Given the description of an element on the screen output the (x, y) to click on. 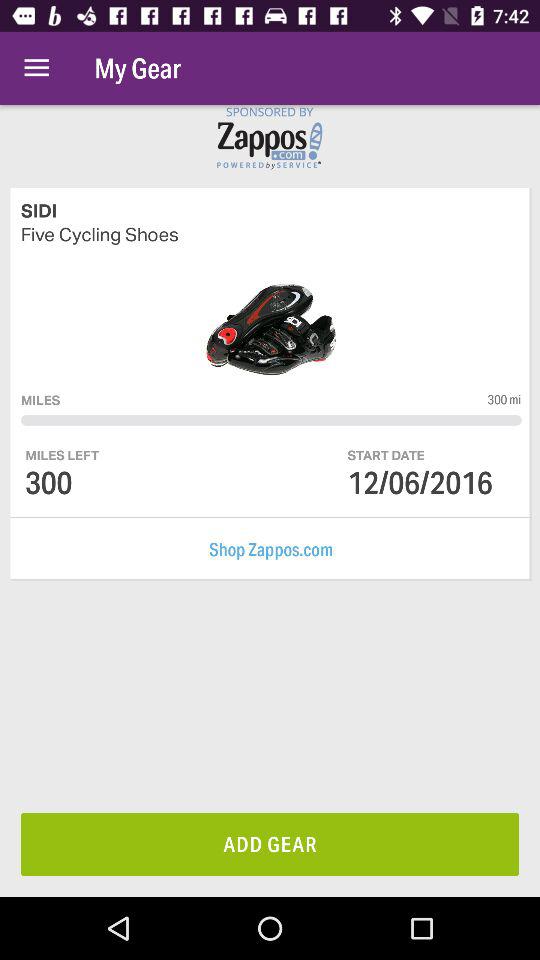
press sidi icon (271, 210)
